Given the description of an element on the screen output the (x, y) to click on. 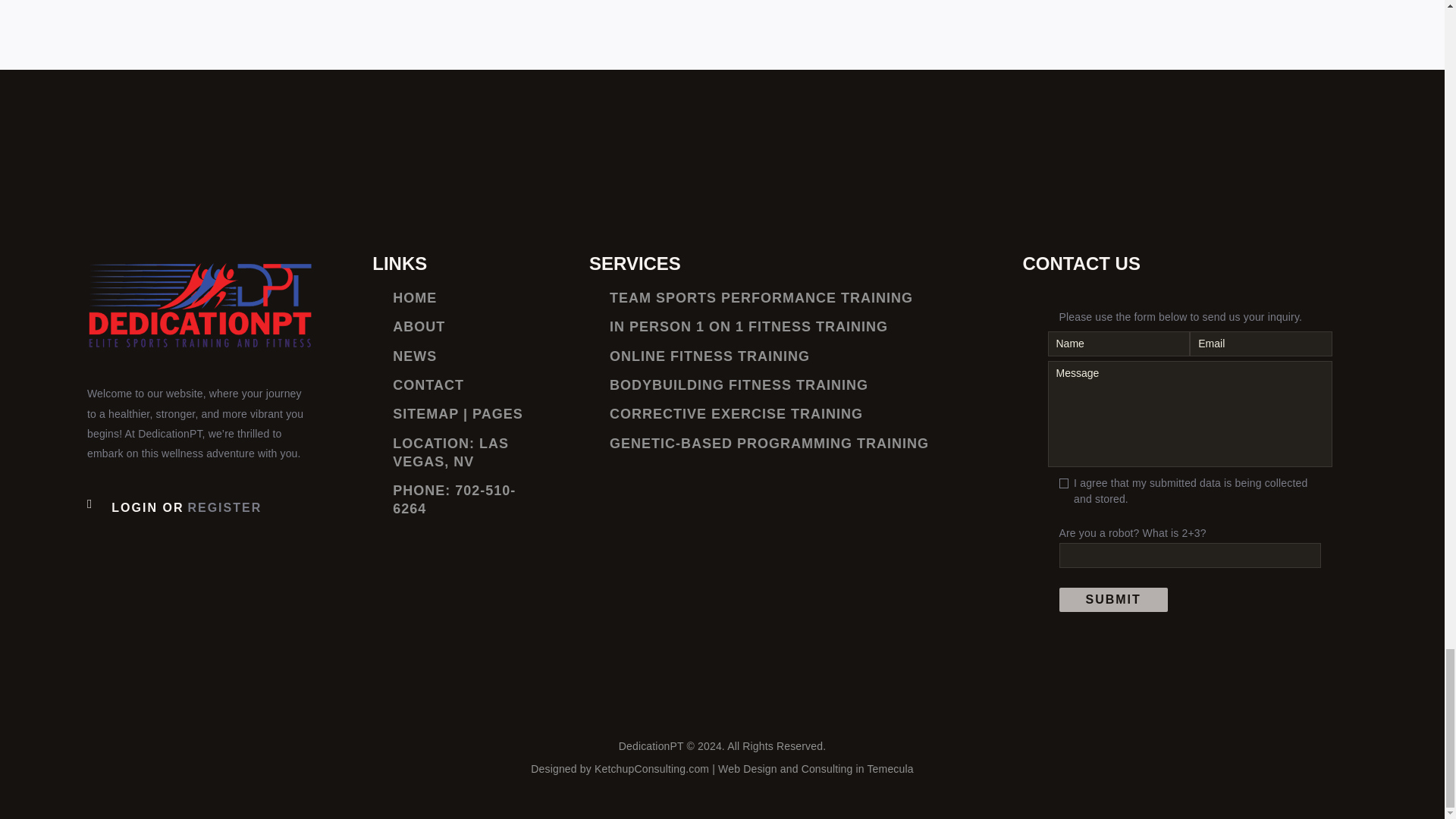
submit (1112, 599)
